Given the description of an element on the screen output the (x, y) to click on. 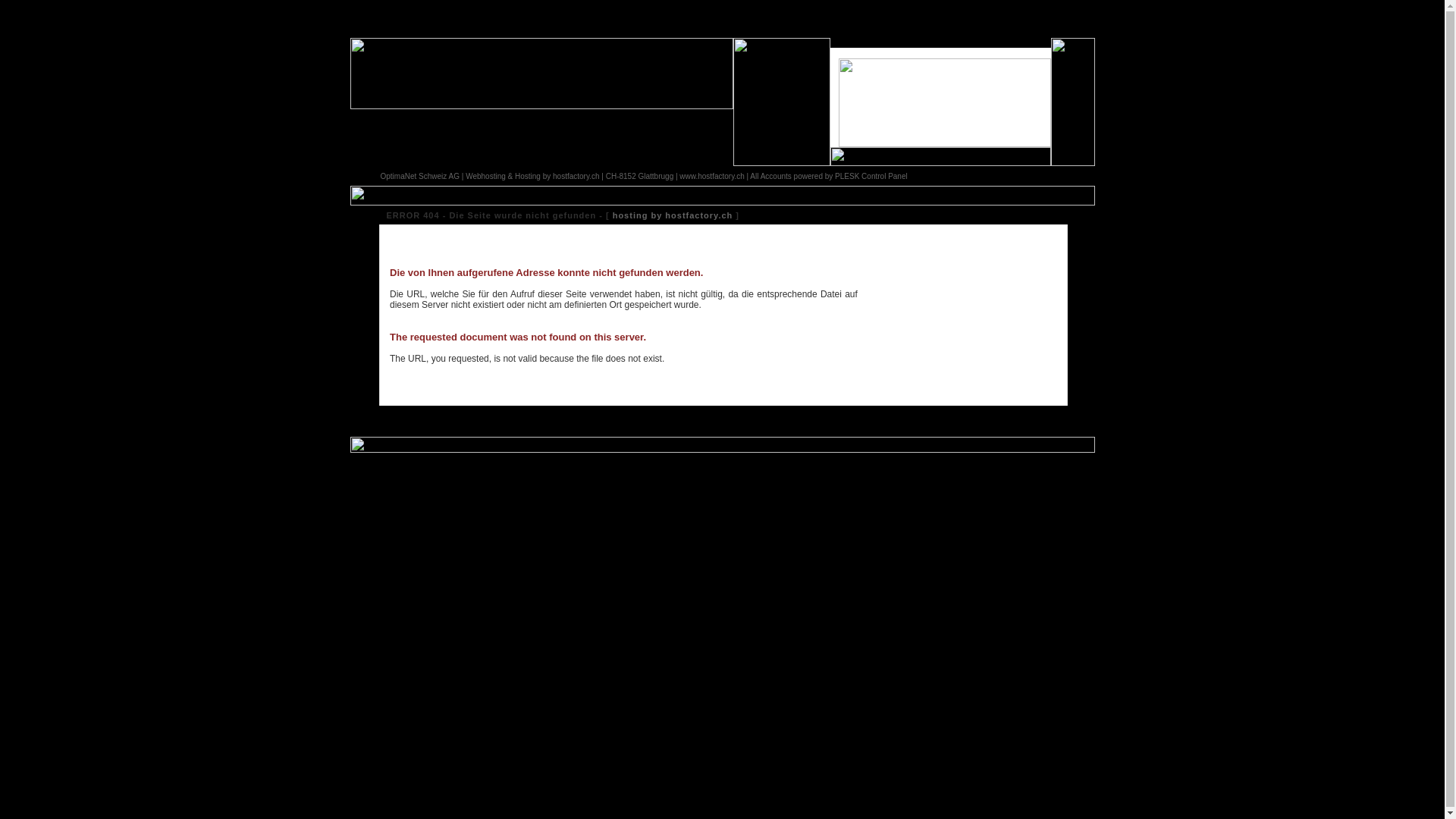
Hosting Element type: text (527, 175)
Webhosting Element type: text (485, 175)
hosting by hostfactory.ch Element type: text (672, 214)
